Given the description of an element on the screen output the (x, y) to click on. 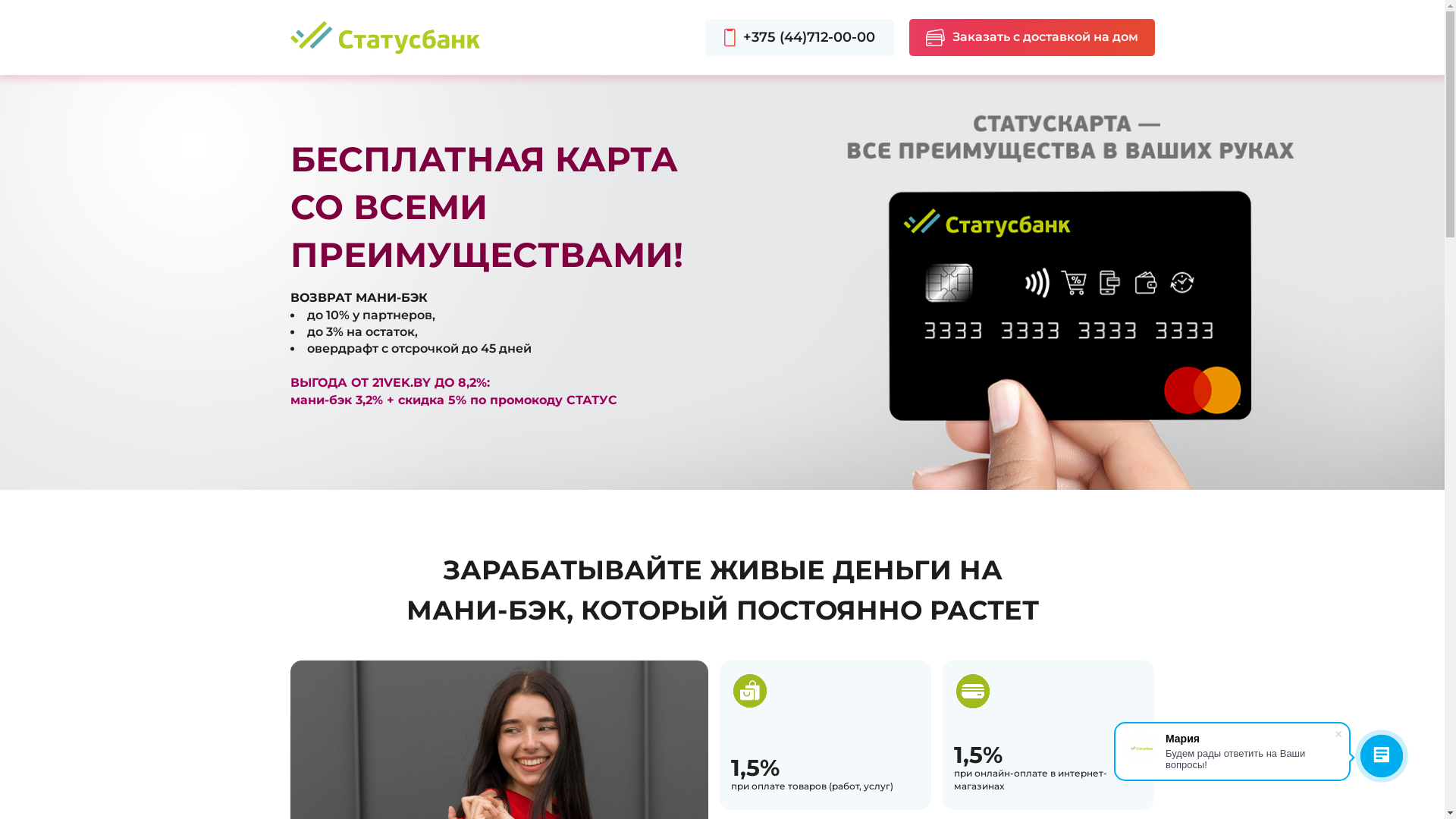
+375 (44)712-00-00 Element type: text (799, 37)
